Given the description of an element on the screen output the (x, y) to click on. 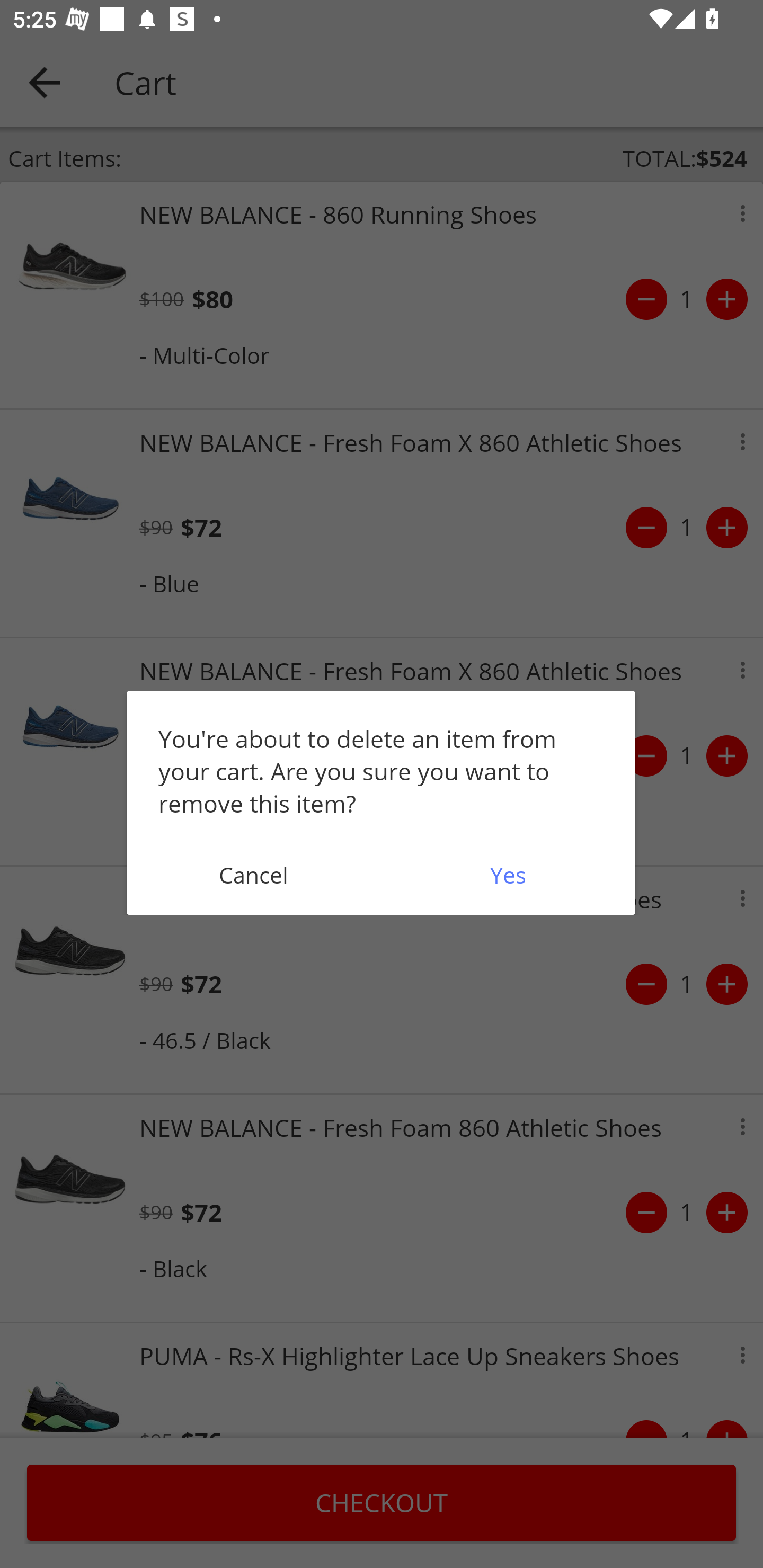
Cancel (253, 874)
Yes (507, 874)
